Given the description of an element on the screen output the (x, y) to click on. 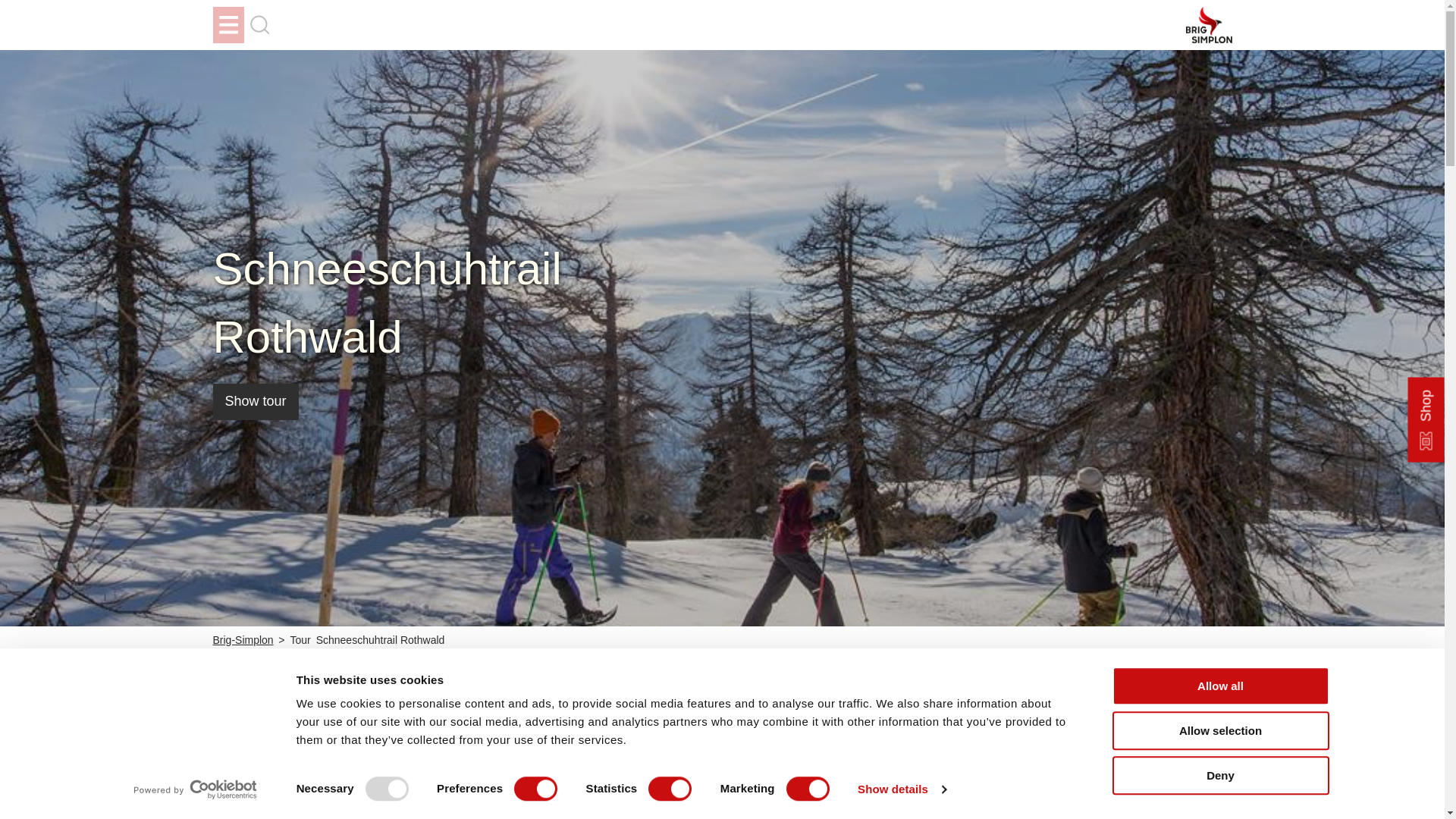
Show details (900, 789)
Ablehnen (994, 784)
Cookie-Einstellungen (827, 784)
Akzeptieren (916, 784)
Mehr Informationen (752, 711)
Show tour (255, 402)
